Given the description of an element on the screen output the (x, y) to click on. 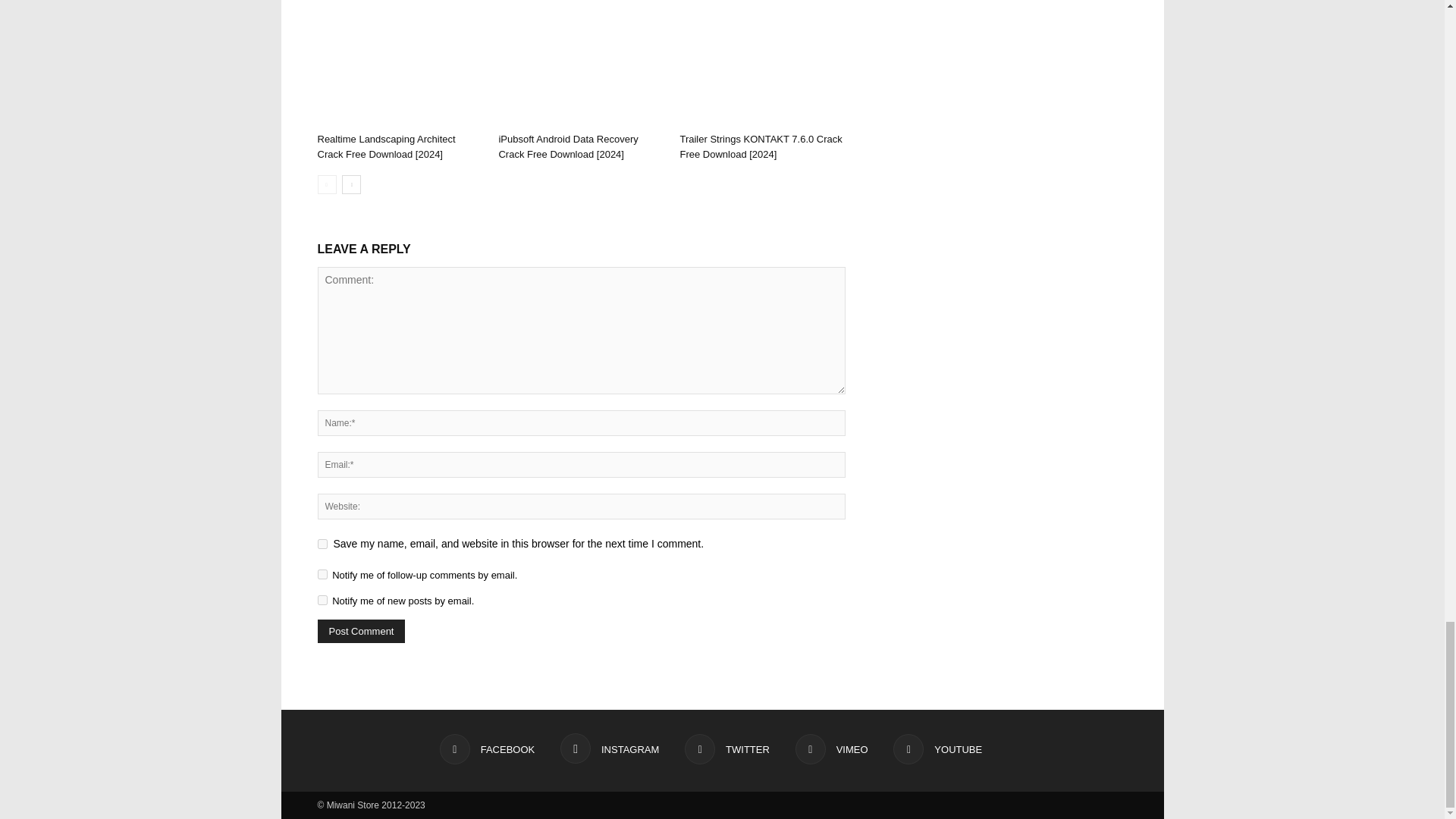
yes (321, 543)
Post Comment (360, 630)
subscribe (321, 600)
subscribe (321, 574)
